Given the description of an element on the screen output the (x, y) to click on. 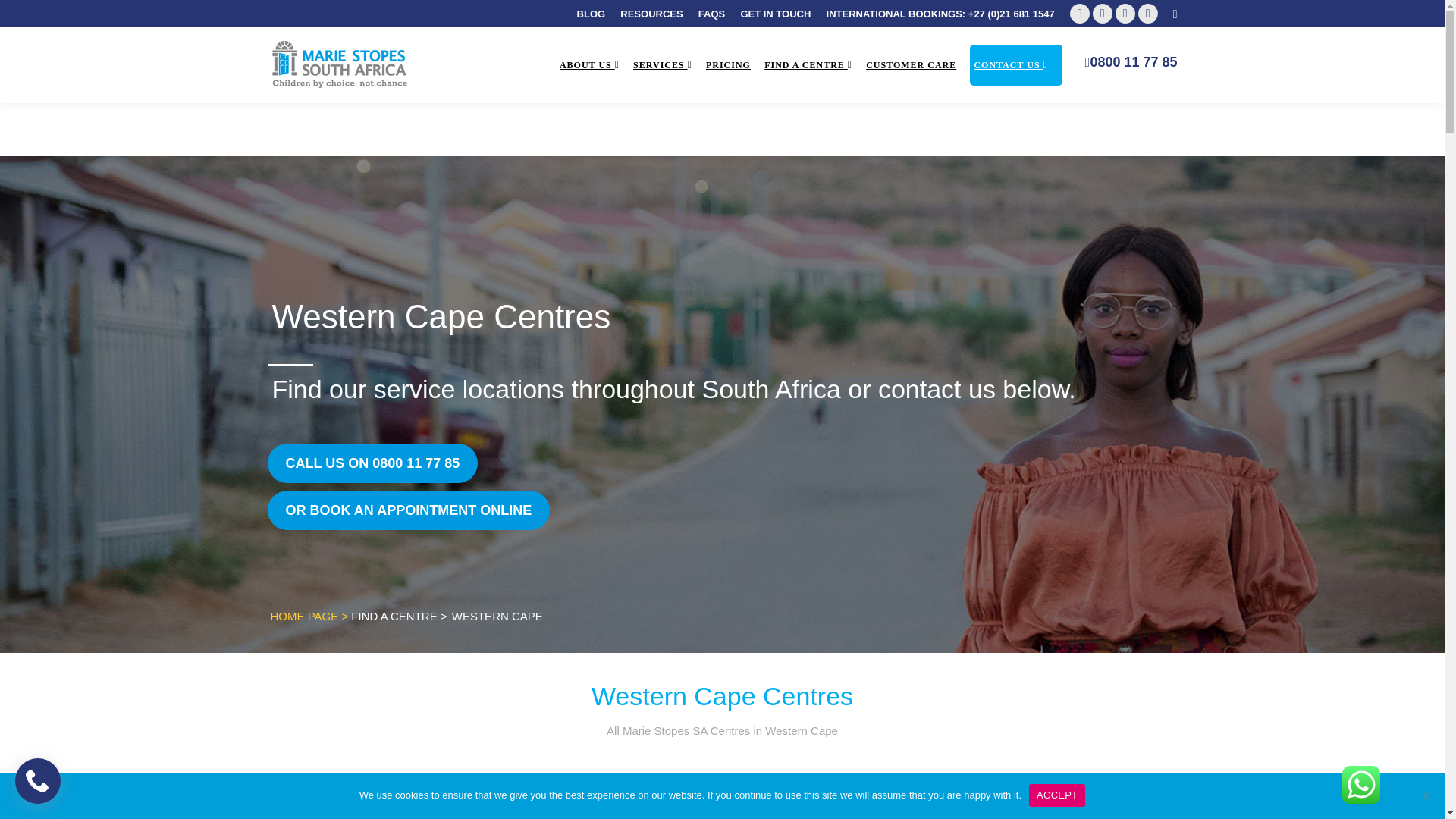
CONTACT US (1016, 65)
CUSTOMER CARE (916, 65)
Whatsapp page opens in new window (1147, 13)
SERVICES (668, 65)
ABOUT US (594, 65)
PRICING (733, 65)
FIND A CENTRE (813, 65)
Get In Touch (408, 509)
Instagram page opens in new window (1125, 13)
Whatsapp page opens in new window (1147, 13)
BLOG (590, 12)
Facebook page opens in new window (1079, 13)
Go! (24, 16)
FAQS (711, 12)
Instagram page opens in new window (1125, 13)
